Given the description of an element on the screen output the (x, y) to click on. 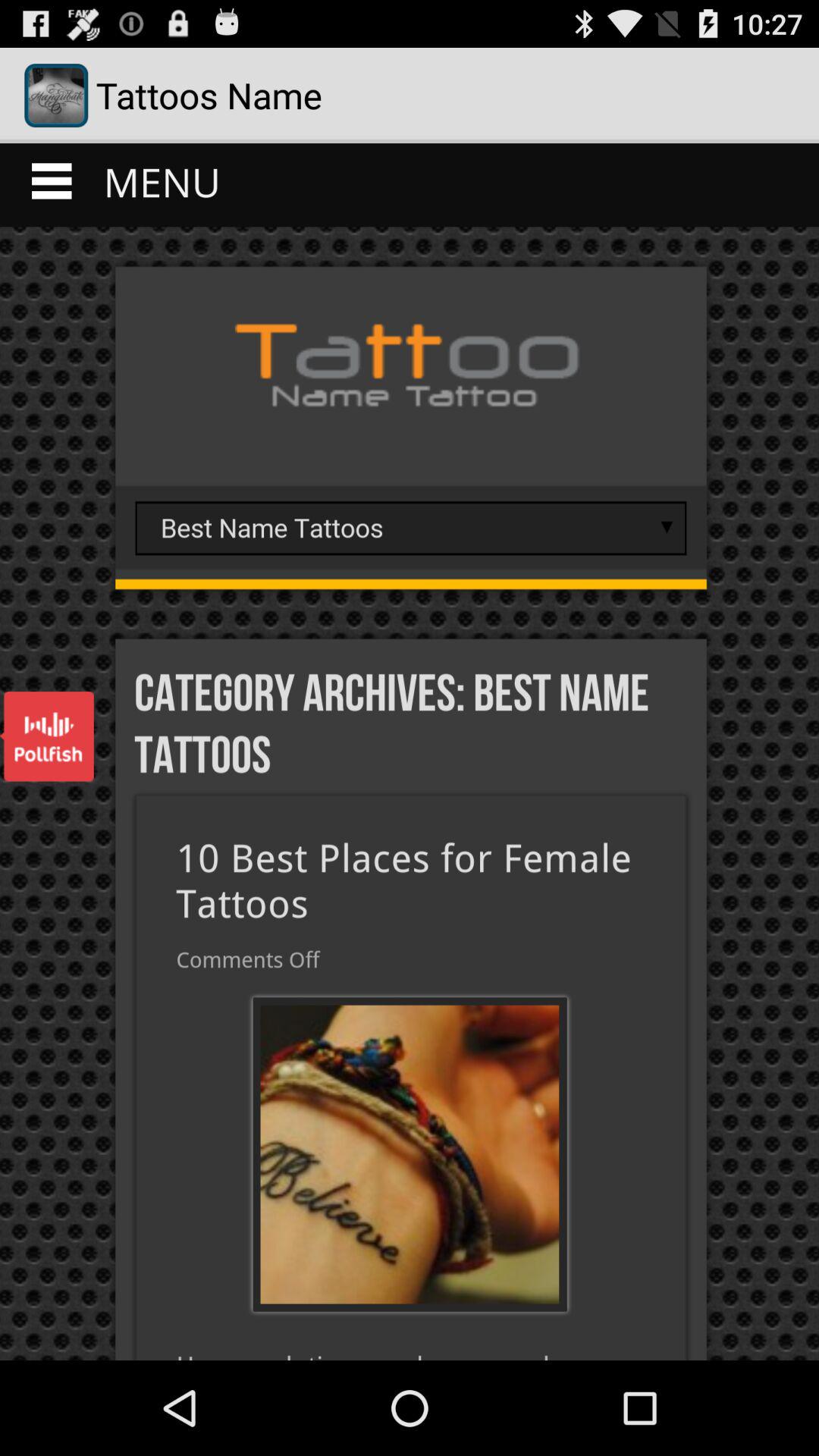
polfish advertisement (46, 736)
